Given the description of an element on the screen output the (x, y) to click on. 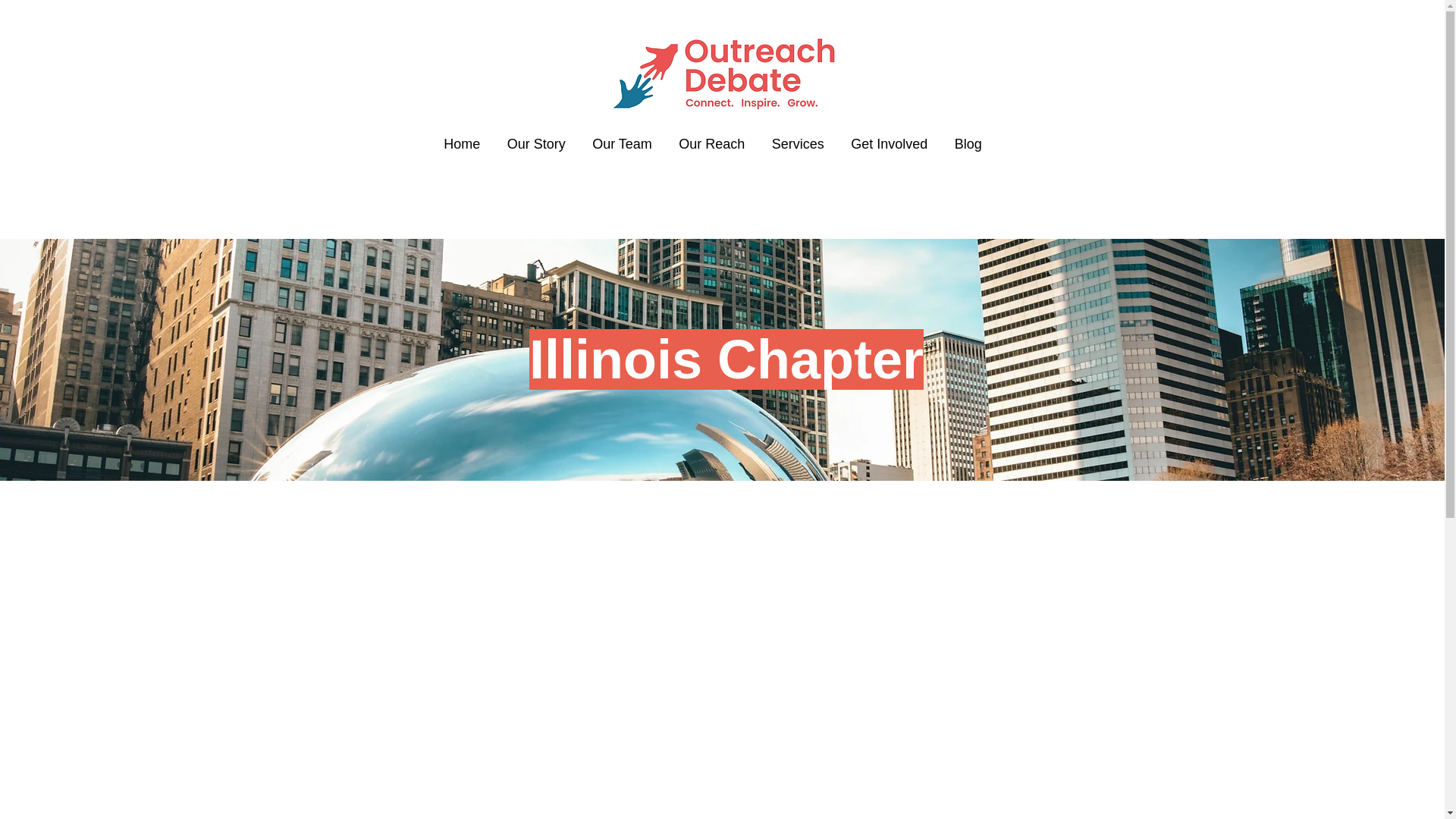
Our Team (621, 144)
Our Story (535, 144)
Home (461, 144)
Services (797, 144)
Get Involved (888, 144)
